Given the description of an element on the screen output the (x, y) to click on. 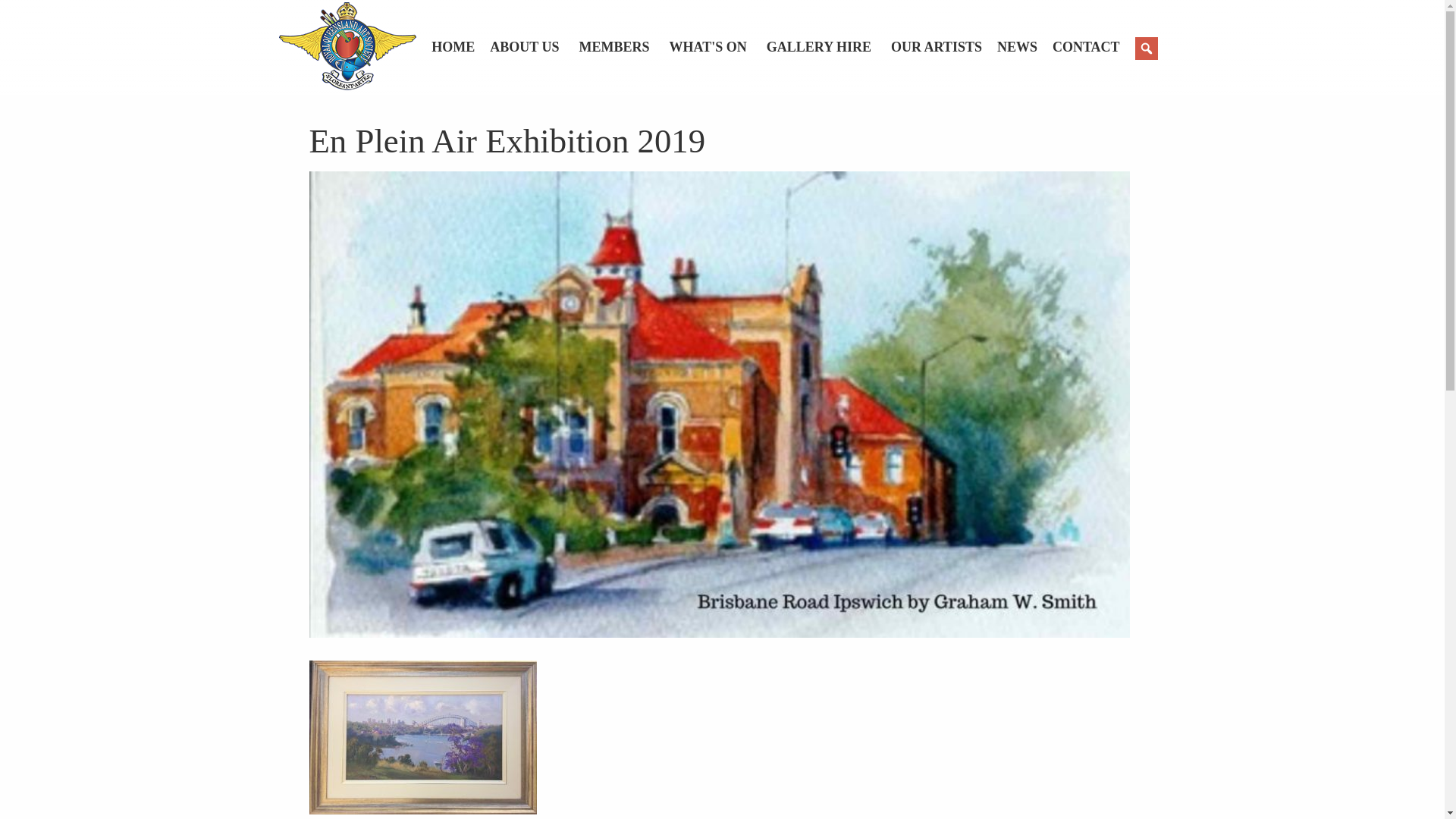
WHAT'S ON (718, 47)
OUR ARTISTS (944, 47)
ABOUT US (533, 47)
GALLERY HIRE (829, 47)
MEMBERS (624, 47)
Search (11, 8)
